Given the description of an element on the screen output the (x, y) to click on. 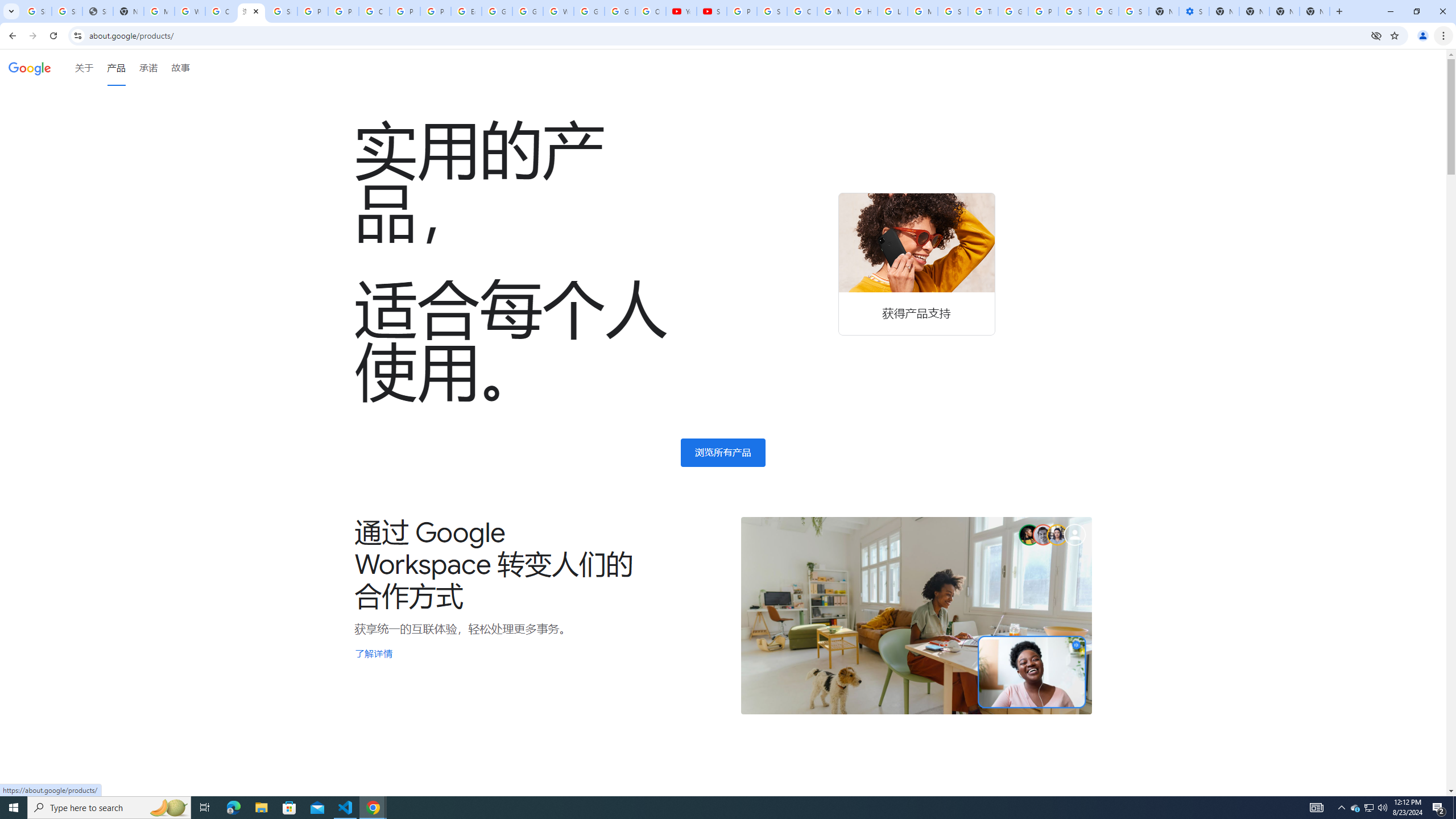
Search our Doodle Library Collection - Google Doodles (952, 11)
Create your Google Account (220, 11)
